Given the description of an element on the screen output the (x, y) to click on. 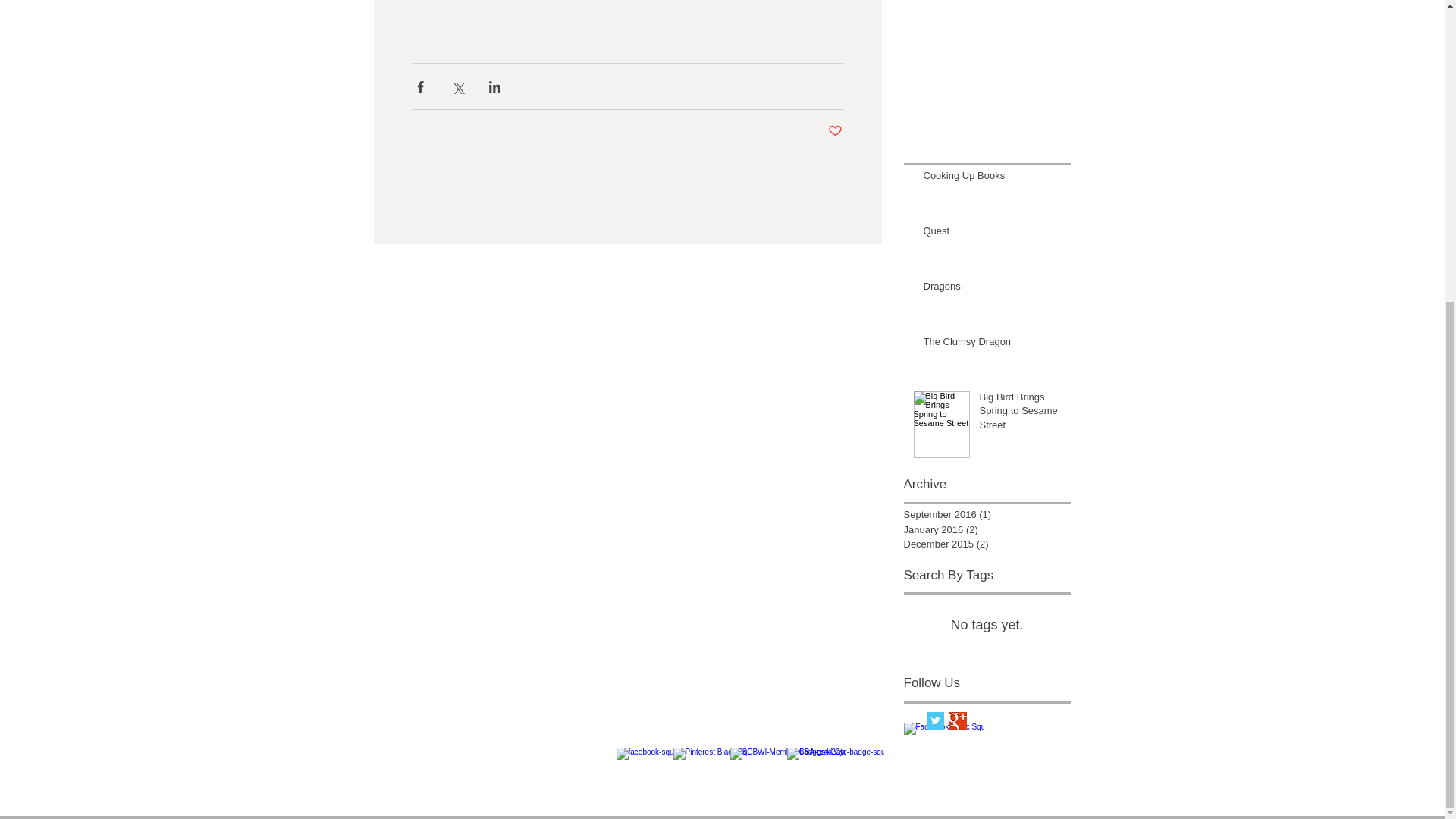
Post not marked as liked (835, 131)
Quest (992, 234)
The Clumsy Dragon (992, 344)
Big Bird Brings Spring to Sesame Street (1020, 414)
Cooking Up Books (992, 178)
Dragons (992, 289)
